Given the description of an element on the screen output the (x, y) to click on. 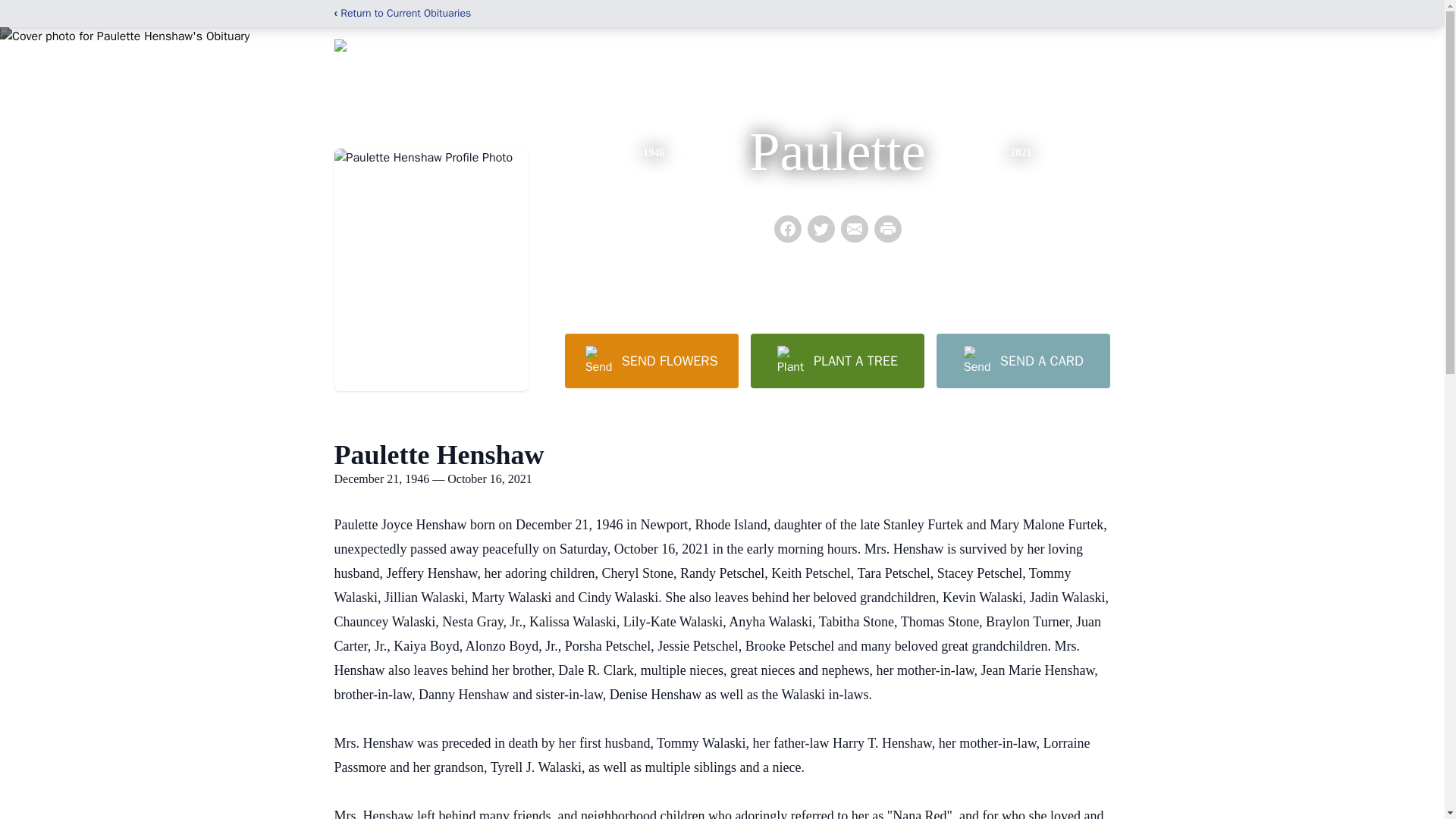
SEND FLOWERS (651, 360)
SEND A CARD (1022, 360)
PLANT A TREE (837, 360)
